Given the description of an element on the screen output the (x, y) to click on. 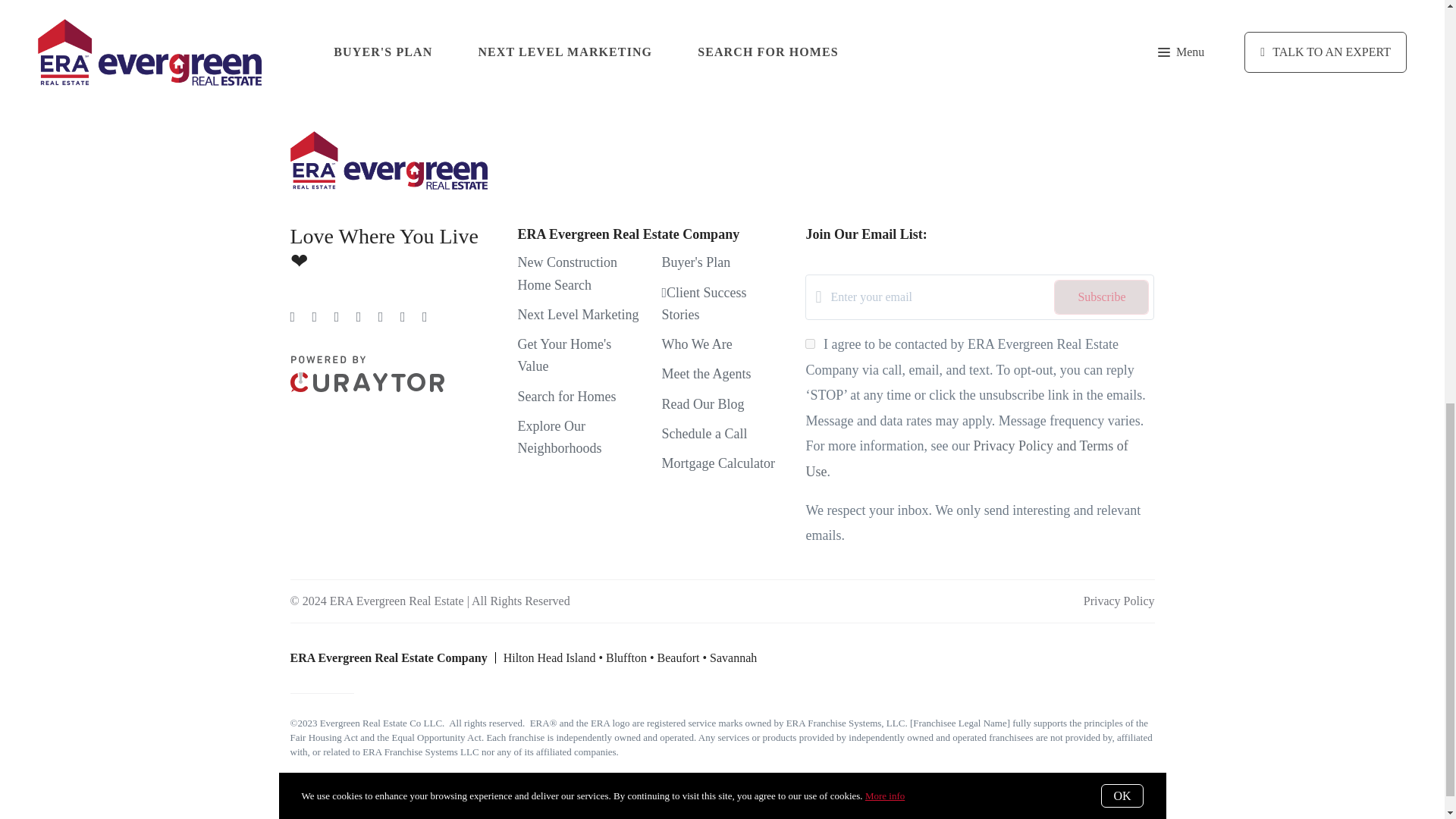
on (810, 343)
curaytor-horizontal (366, 373)
